Given the description of an element on the screen output the (x, y) to click on. 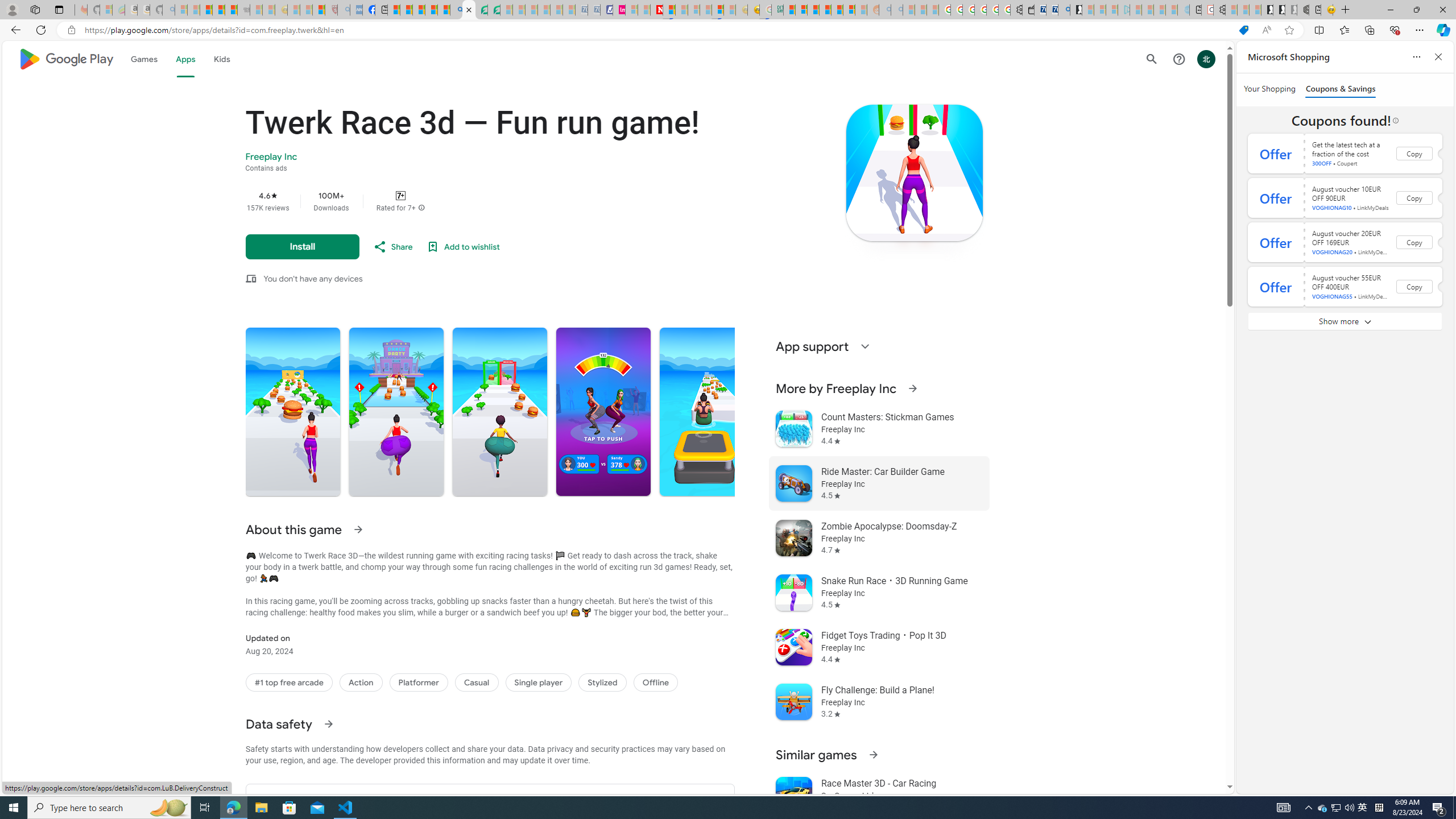
Share (392, 246)
DITOGAMES AG Imprint (777, 9)
Wallet (1028, 9)
Content rating (400, 194)
#1 top free arcade (288, 682)
list of asthma inhalers uk - Search - Sleeping (344, 9)
This site has coupons! Shopping in Microsoft Edge (1243, 29)
View site information (70, 29)
Utah sues federal government - Search - Sleeping (896, 9)
Add this page to favorites (Ctrl+D) (1289, 29)
Browser essentials (1394, 29)
